Given the description of an element on the screen output the (x, y) to click on. 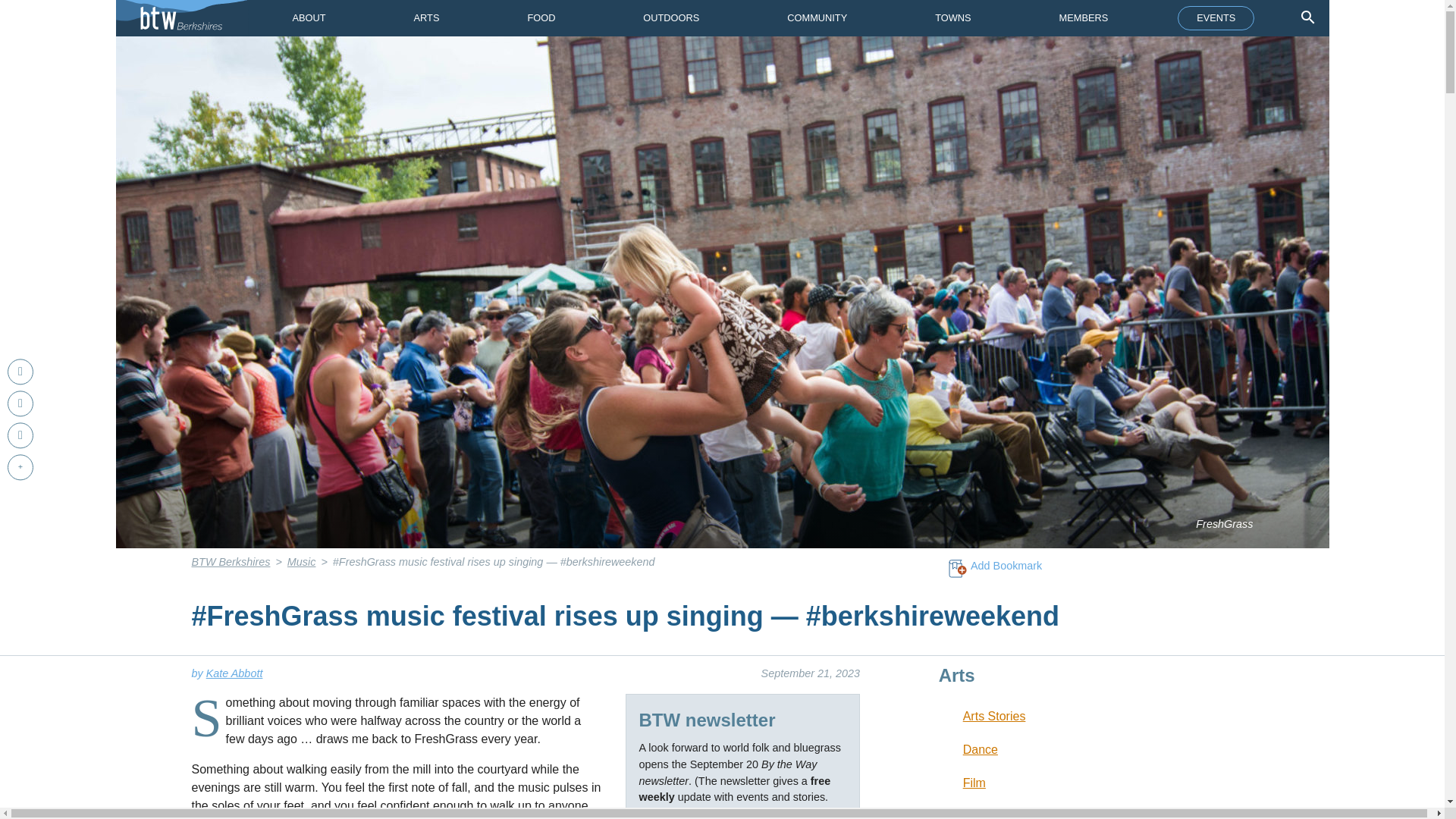
TOWNS (952, 18)
MEMBERS (1083, 18)
ARTS (427, 18)
Share this on Facebook (20, 371)
Email this  (20, 434)
Search Site (1307, 17)
More share links (20, 466)
ABOUT (308, 18)
Add this to LinkedIn (20, 403)
OUTDOORS (670, 18)
COMMUNITY (816, 18)
FOOD (540, 18)
